Given the description of an element on the screen output the (x, y) to click on. 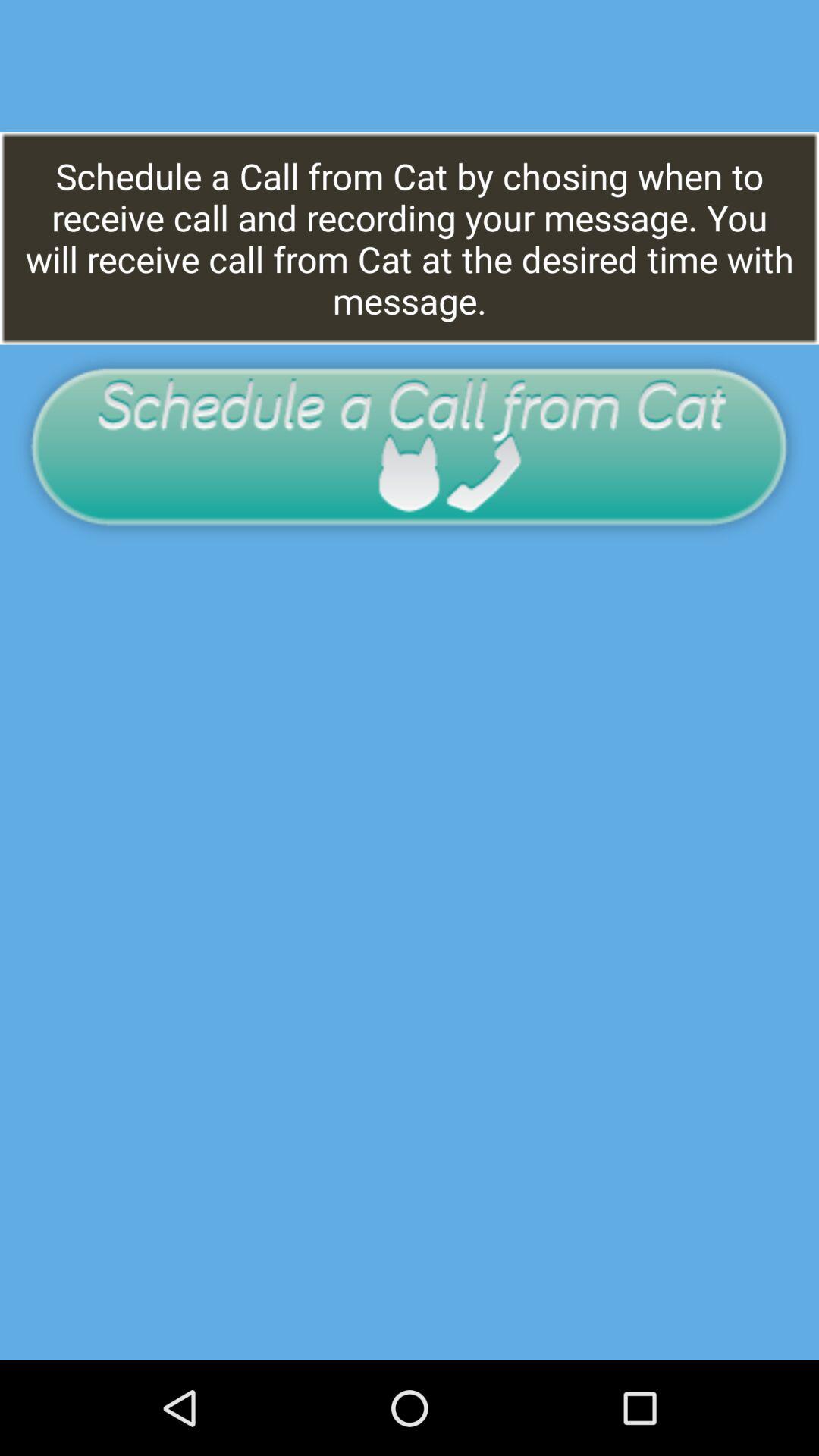
select app below schedule a call app (409, 445)
